Given the description of an element on the screen output the (x, y) to click on. 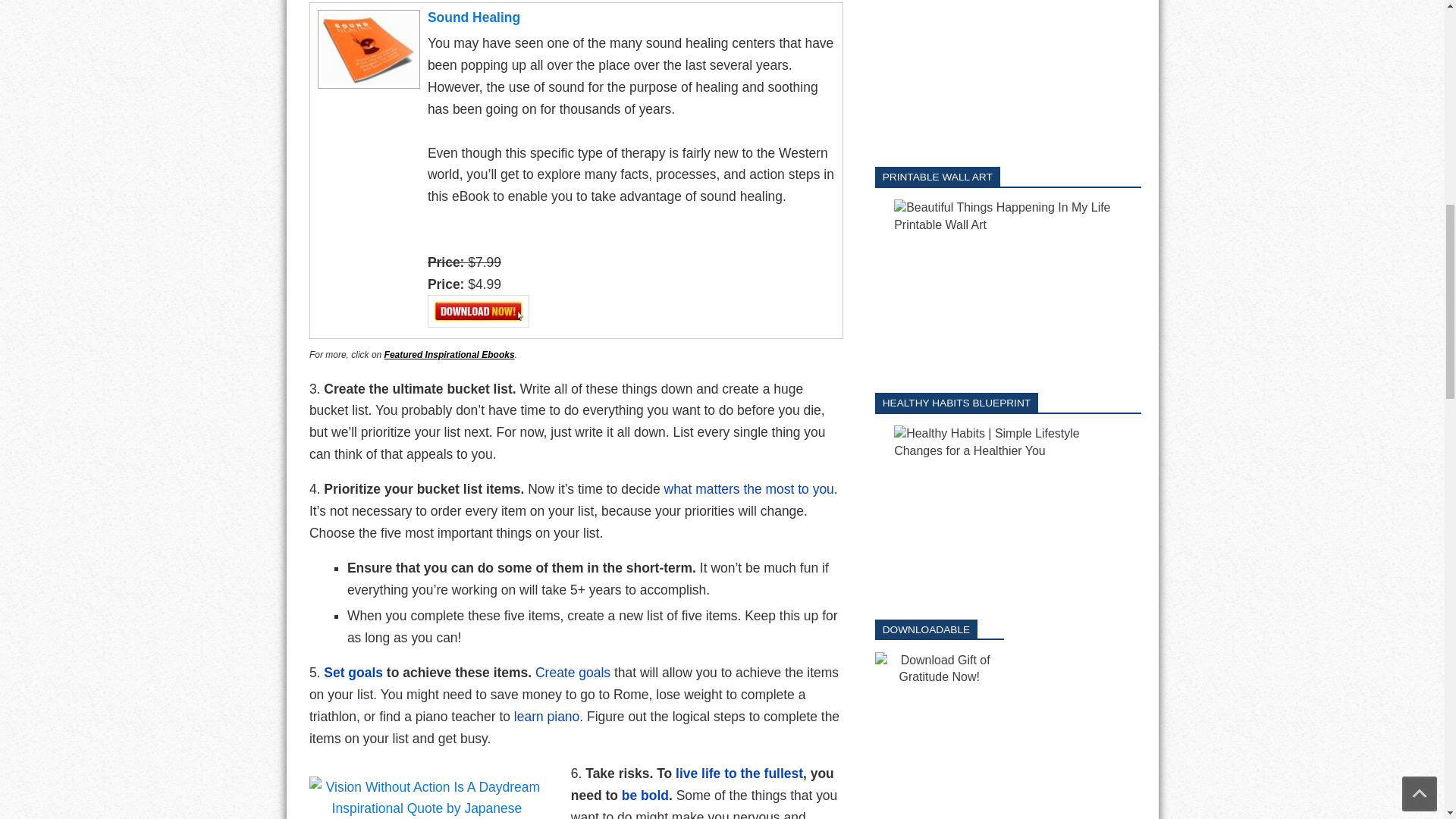
Featured Inspirational Ebooks (449, 354)
Creating A Most Wonderful Life Ebook (748, 488)
Breakthrough You Ebook (352, 672)
Discover Your Life Purpose Ebook (572, 672)
Sound Healing Ebook (546, 716)
Sound Healing (367, 17)
